Given the description of an element on the screen output the (x, y) to click on. 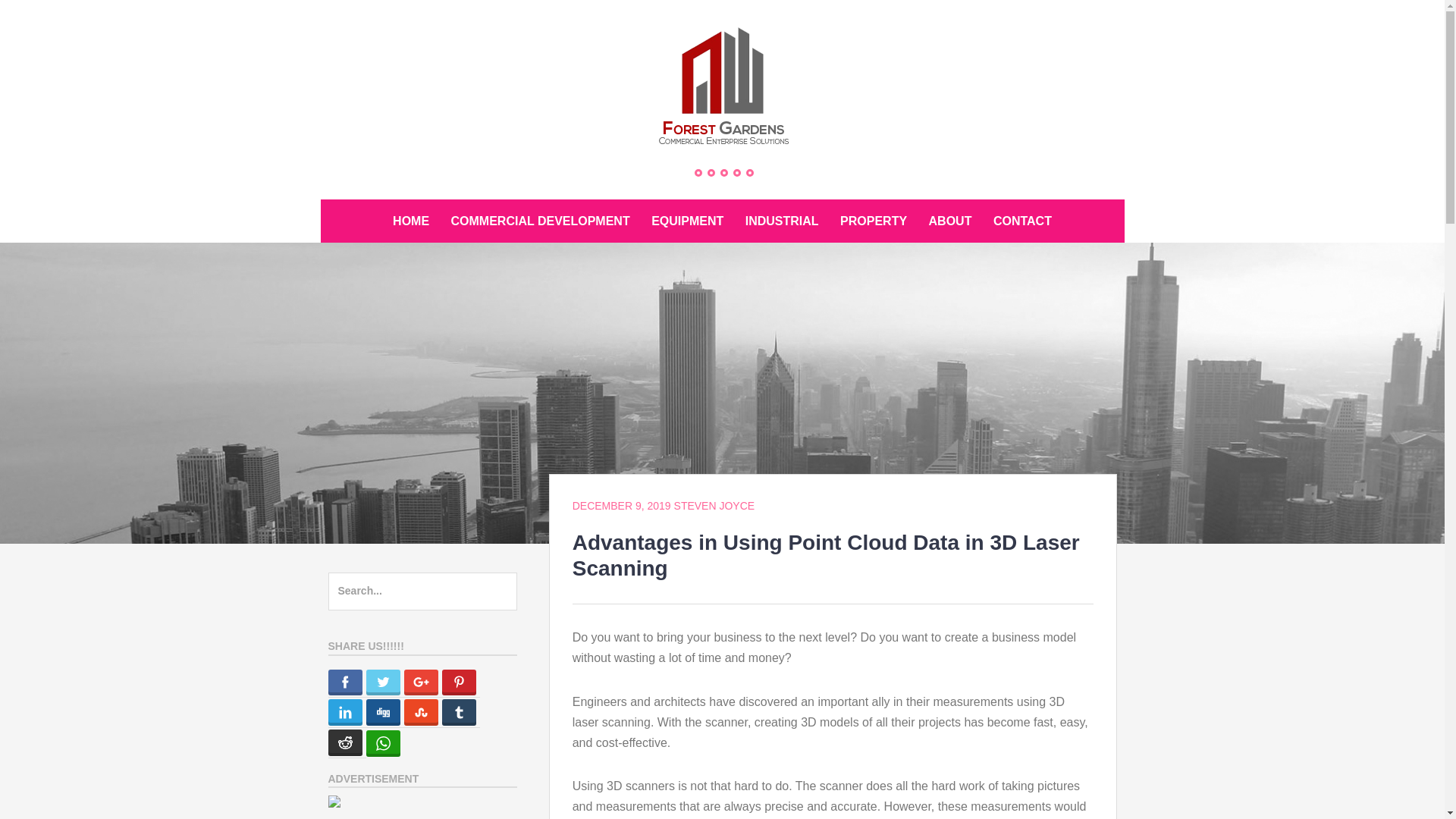
Home Element type: text (698, 172)
DECEMBER 9, 2019 Element type: text (621, 505)
CONTACT Element type: text (1022, 221)
EQUIPMENT Element type: text (687, 221)
Skip to content Element type: text (320, 198)
HOME Element type: text (410, 221)
INDUSTRIAL Element type: text (782, 221)
Search for: Element type: hover (422, 591)
ABOUT Element type: text (950, 221)
Terms of Use Element type: text (749, 172)
Contact Us Element type: text (724, 172)
STEVEN JOYCE Element type: text (714, 505)
About Us Element type: text (711, 172)
PROPERTY Element type: text (873, 221)
FOREST GARDENS Element type: text (426, 176)
Privacy Policy Element type: text (736, 172)
Search Element type: text (44, 18)
COMMERCIAL DEVELOPMENT Element type: text (540, 221)
